Given the description of an element on the screen output the (x, y) to click on. 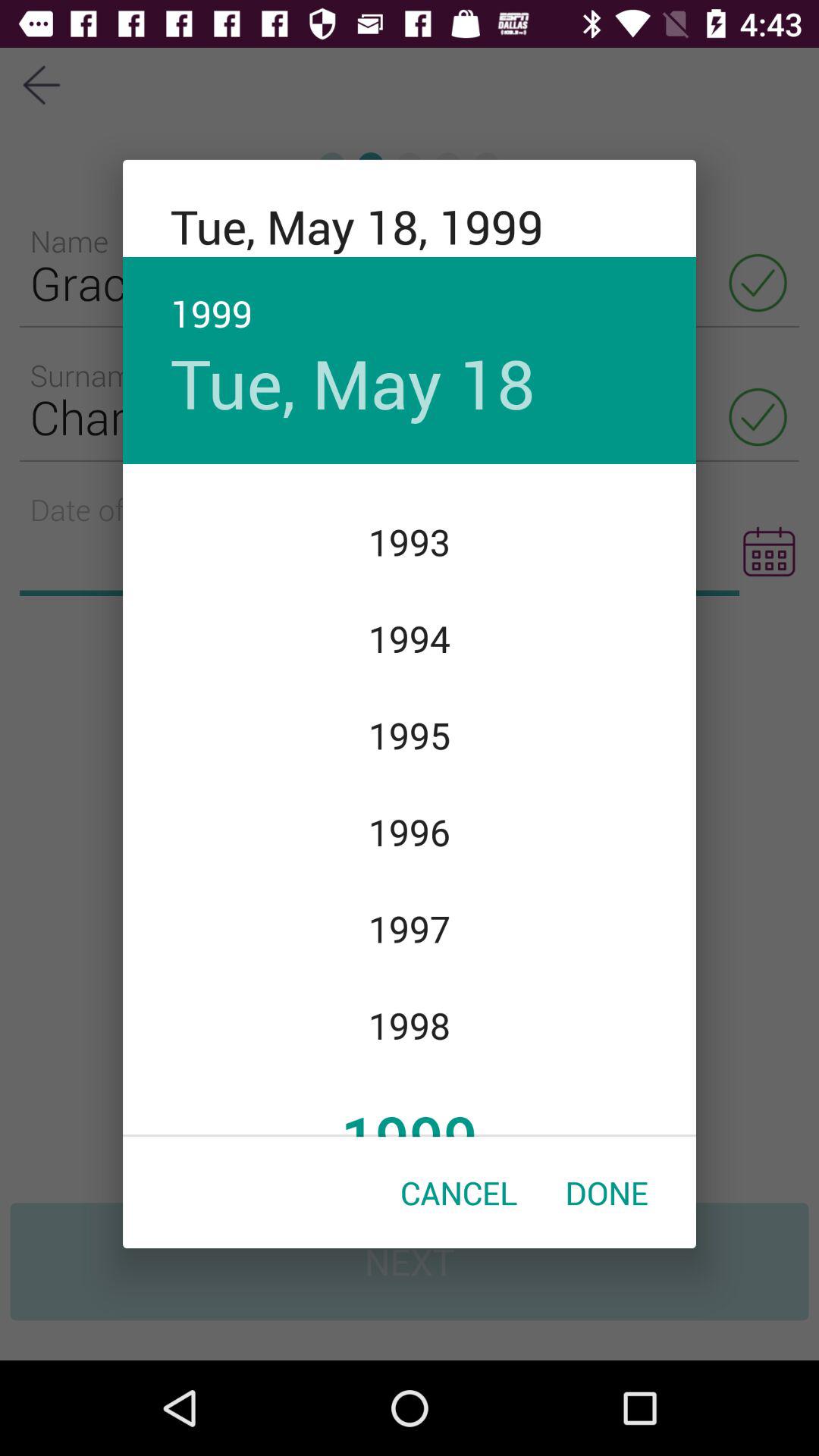
flip to cancel icon (458, 1192)
